Given the description of an element on the screen output the (x, y) to click on. 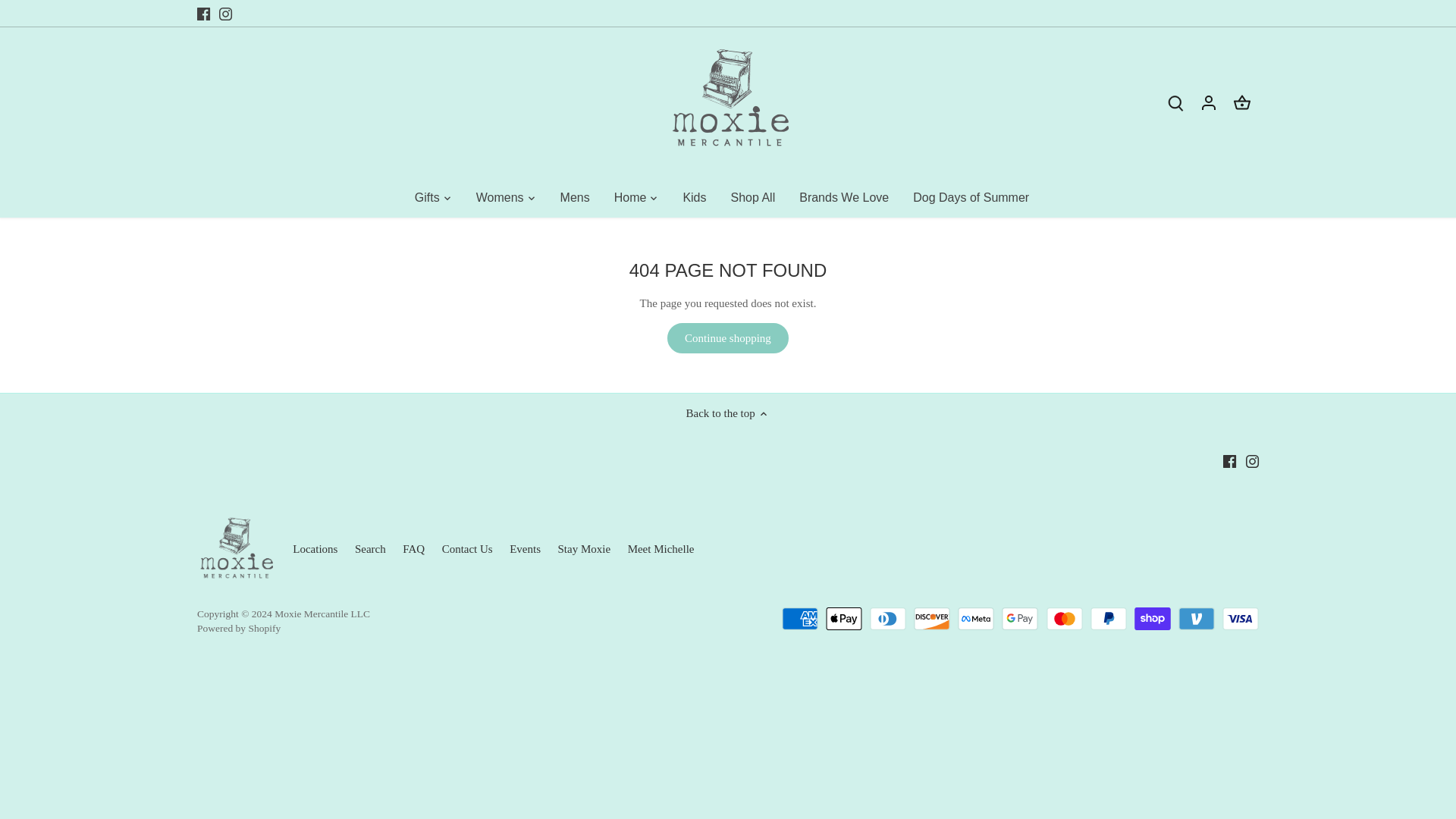
Gifts (432, 197)
Back to the top (727, 413)
Discover (932, 618)
American Express (799, 618)
Brands We Love (844, 197)
Google Pay (1019, 618)
Facebook (1229, 461)
Instagram (225, 13)
Mens (575, 197)
Diners Club (887, 618)
